Given the description of an element on the screen output the (x, y) to click on. 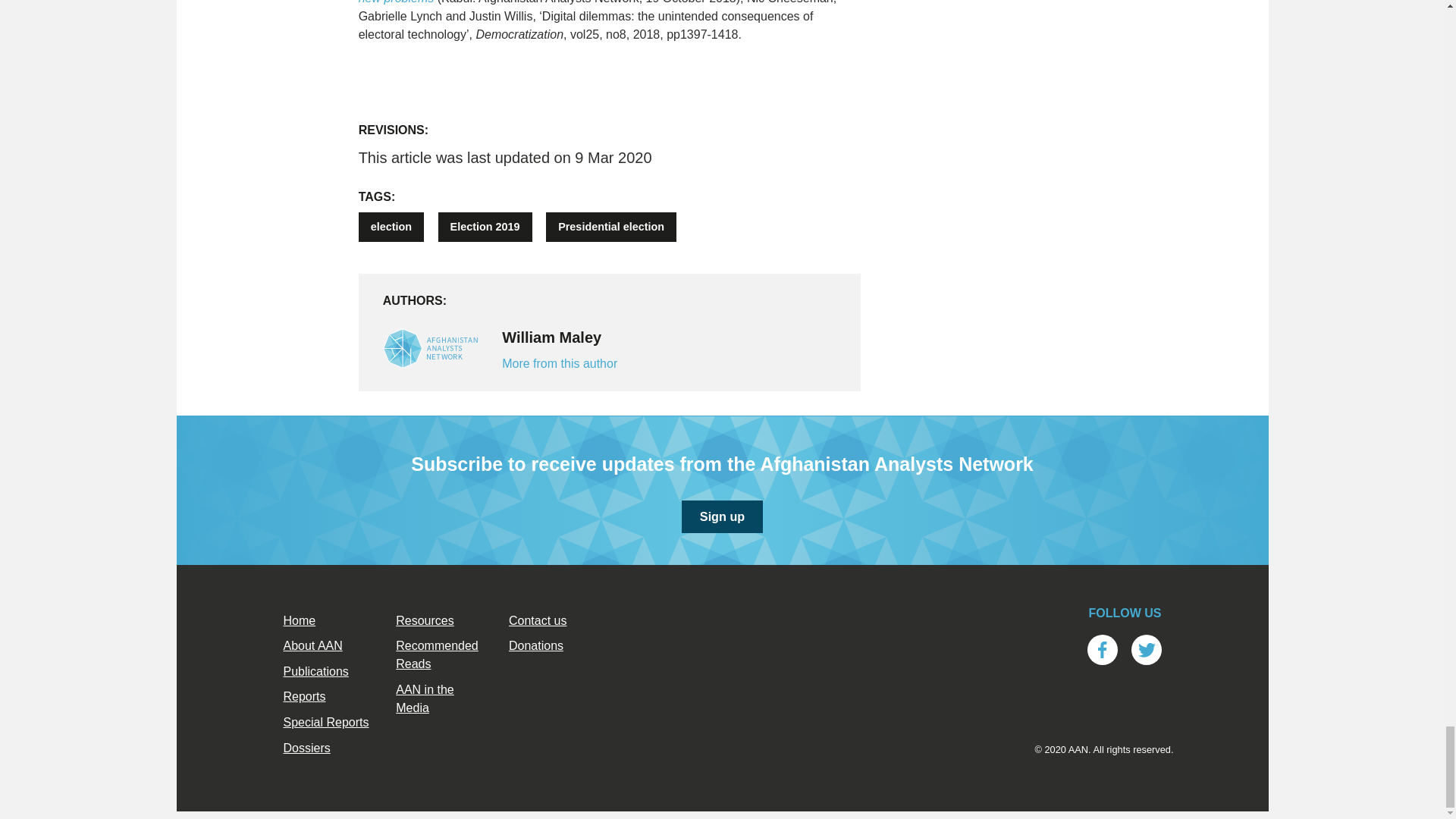
Sign up (721, 516)
